Given the description of an element on the screen output the (x, y) to click on. 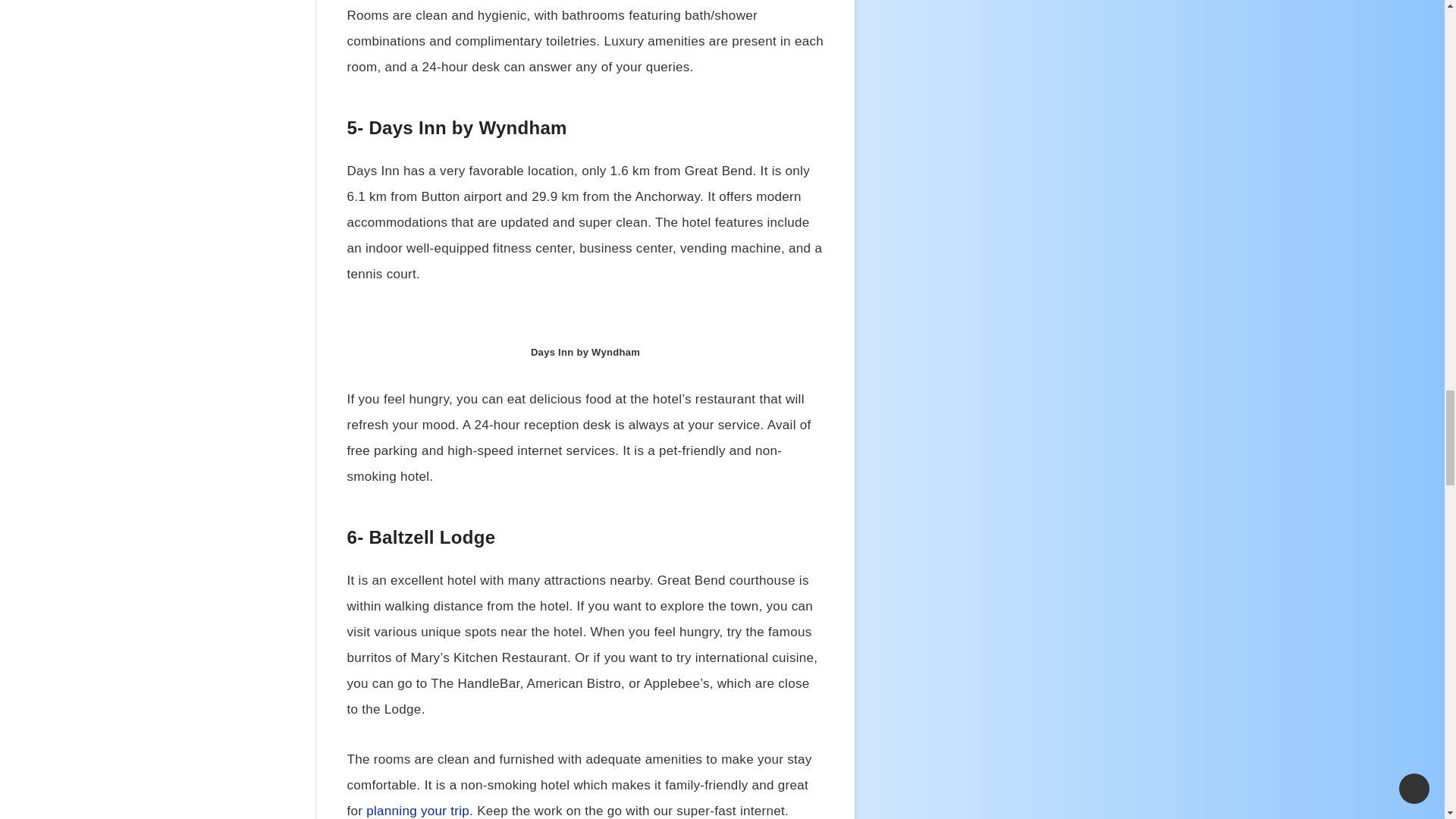
planning your trip (417, 810)
